Given the description of an element on the screen output the (x, y) to click on. 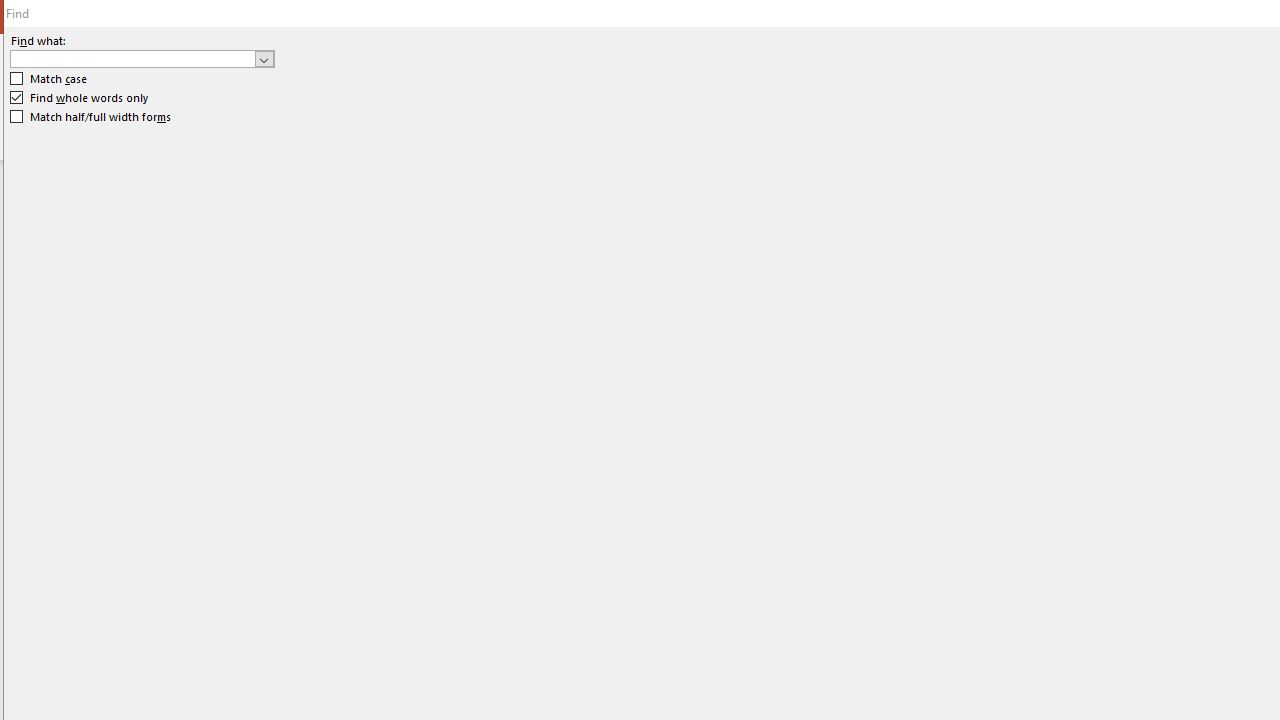
Picture Format (834, 48)
